Given the description of an element on the screen output the (x, y) to click on. 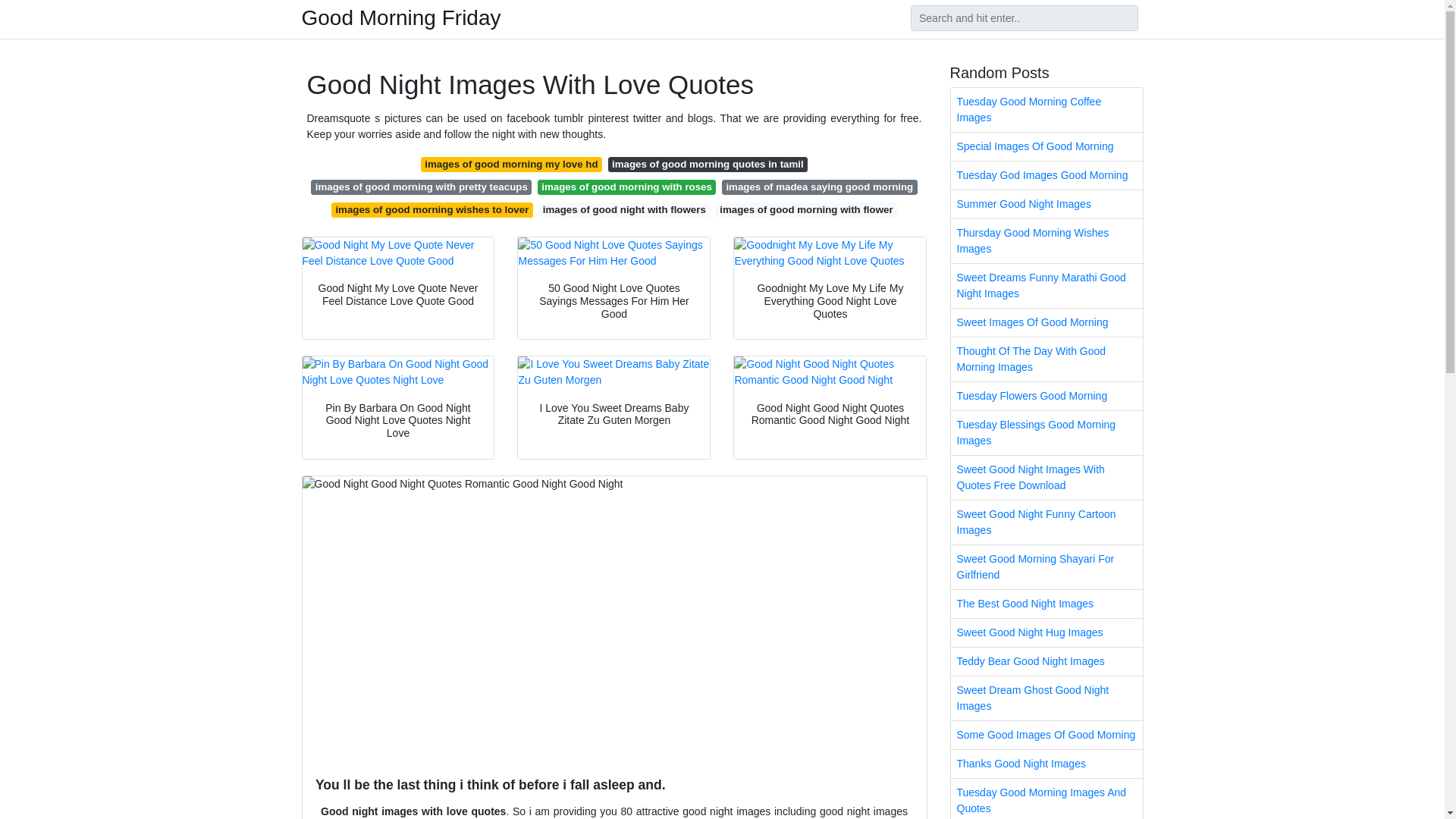
images of good night with flowers (624, 209)
Sweet Good Morning Shayari For Girlfriend (1046, 566)
Sweet Dream Ghost Good Night Images (1046, 698)
Teddy Bear Good Night Images (1046, 661)
images of good morning my love hd (511, 164)
images of good morning wishes to lover (431, 209)
images of good morning with roses (626, 186)
Thursday Good Morning Wishes Images (1046, 240)
Sweet Dreams Funny Marathi Good Night Images (1046, 285)
The Best Good Night Images (1046, 603)
